Given the description of an element on the screen output the (x, y) to click on. 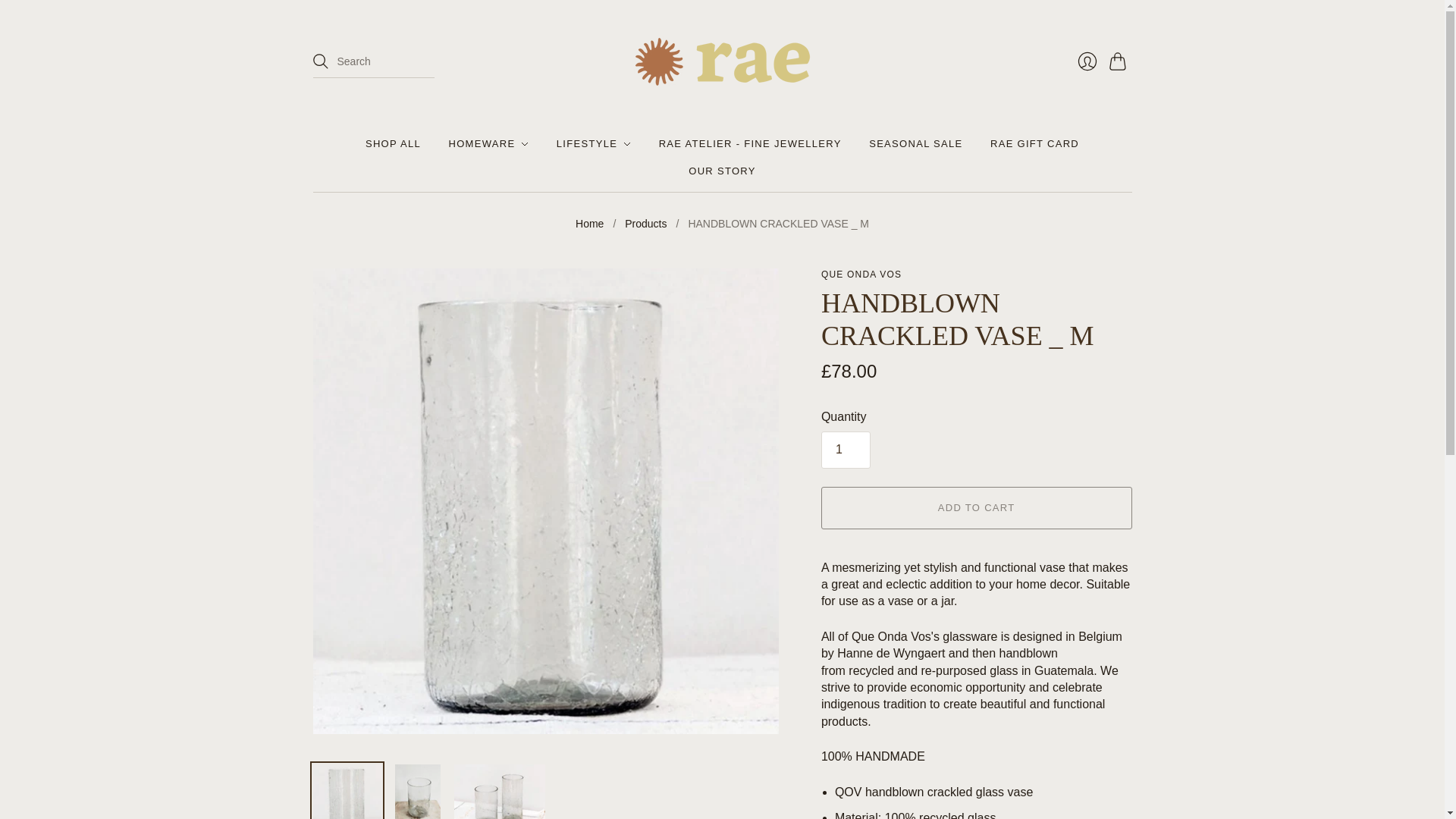
SHOP ALL (392, 144)
1 (845, 449)
RAE ATELIER - FINE JEWELLERY (750, 144)
SEASONAL SALE (915, 144)
Cart (1119, 60)
Que Onda Vos (861, 274)
LIFESTYLE (593, 144)
RAE GIFT CARD (1034, 144)
HOMEWARE (488, 144)
Login (1086, 60)
OUR STORY (721, 171)
